Given the description of an element on the screen output the (x, y) to click on. 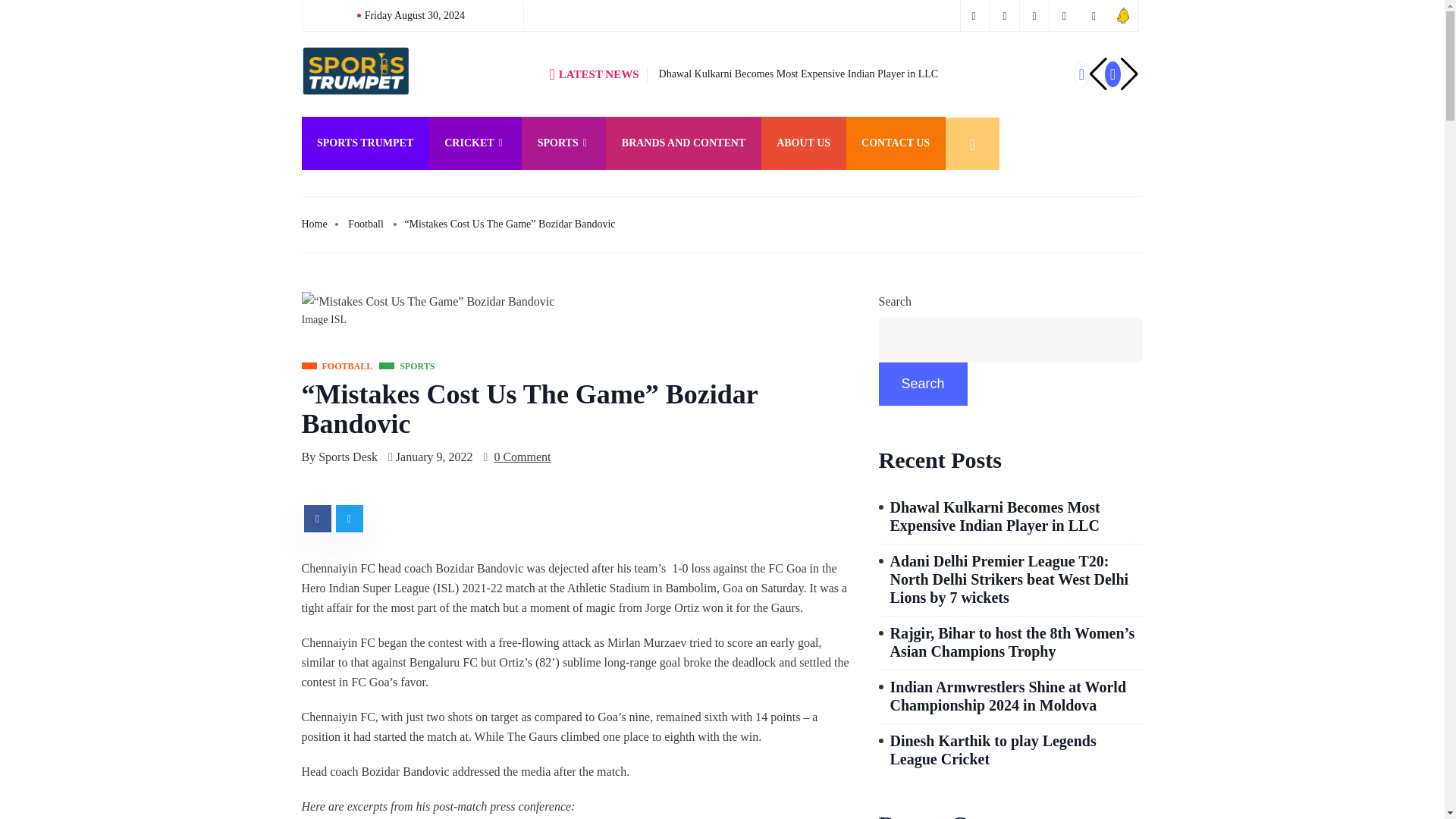
Dhawal Kulkarni Becomes Most Expensive Indian Player in LLC (799, 73)
Dhawal Kulkarni Becomes Most Expensive Indian Player in LLC (799, 73)
CRICKET (475, 143)
SPORTS TRUMPET (365, 143)
SPORTS (563, 143)
